Given the description of an element on the screen output the (x, y) to click on. 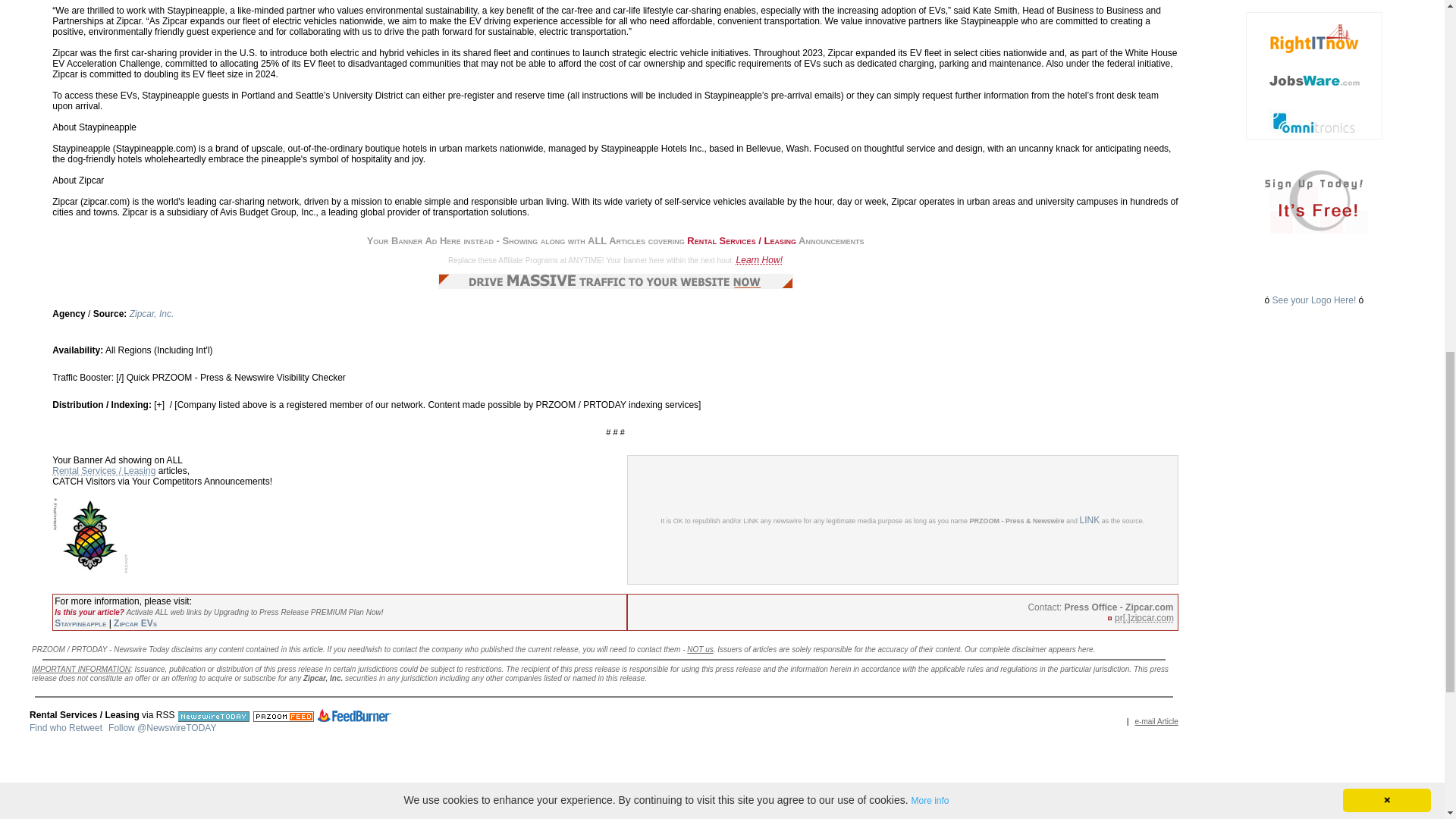
Find who Retweet (65, 727)
Zipcar EVs (135, 623)
Learn How! (759, 259)
here (1085, 648)
LINK (1090, 519)
Zipcar, Inc. (151, 313)
Staypineapple (80, 623)
